Given the description of an element on the screen output the (x, y) to click on. 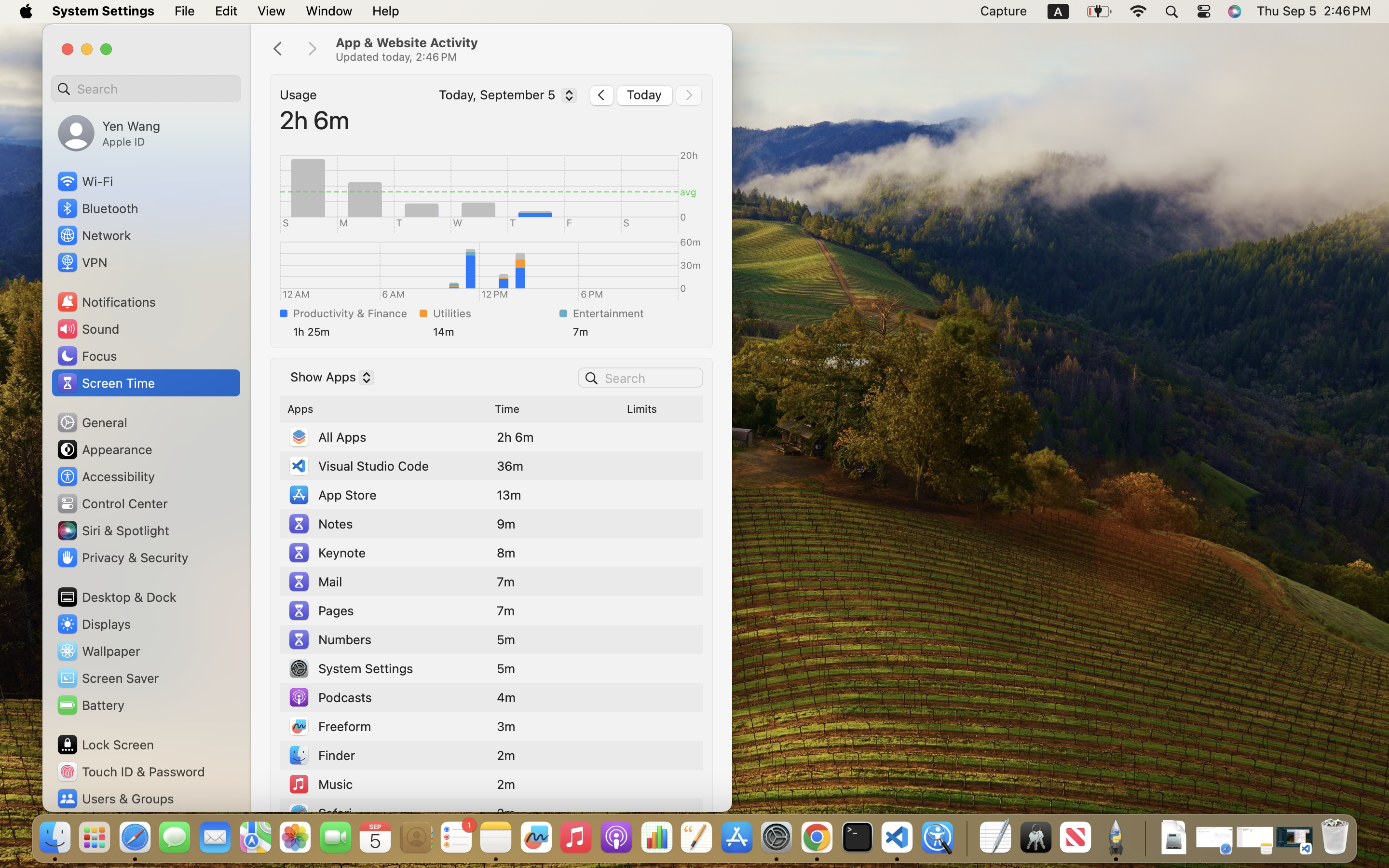
3m Element type: AXStaticText (505, 725)
5m Element type: AXStaticText (505, 668)
Battery Element type: AXStaticText (89, 704)
System Settings Element type: AXStaticText (349, 667)
Freeform Element type: AXStaticText (329, 725)
